Given the description of an element on the screen output the (x, y) to click on. 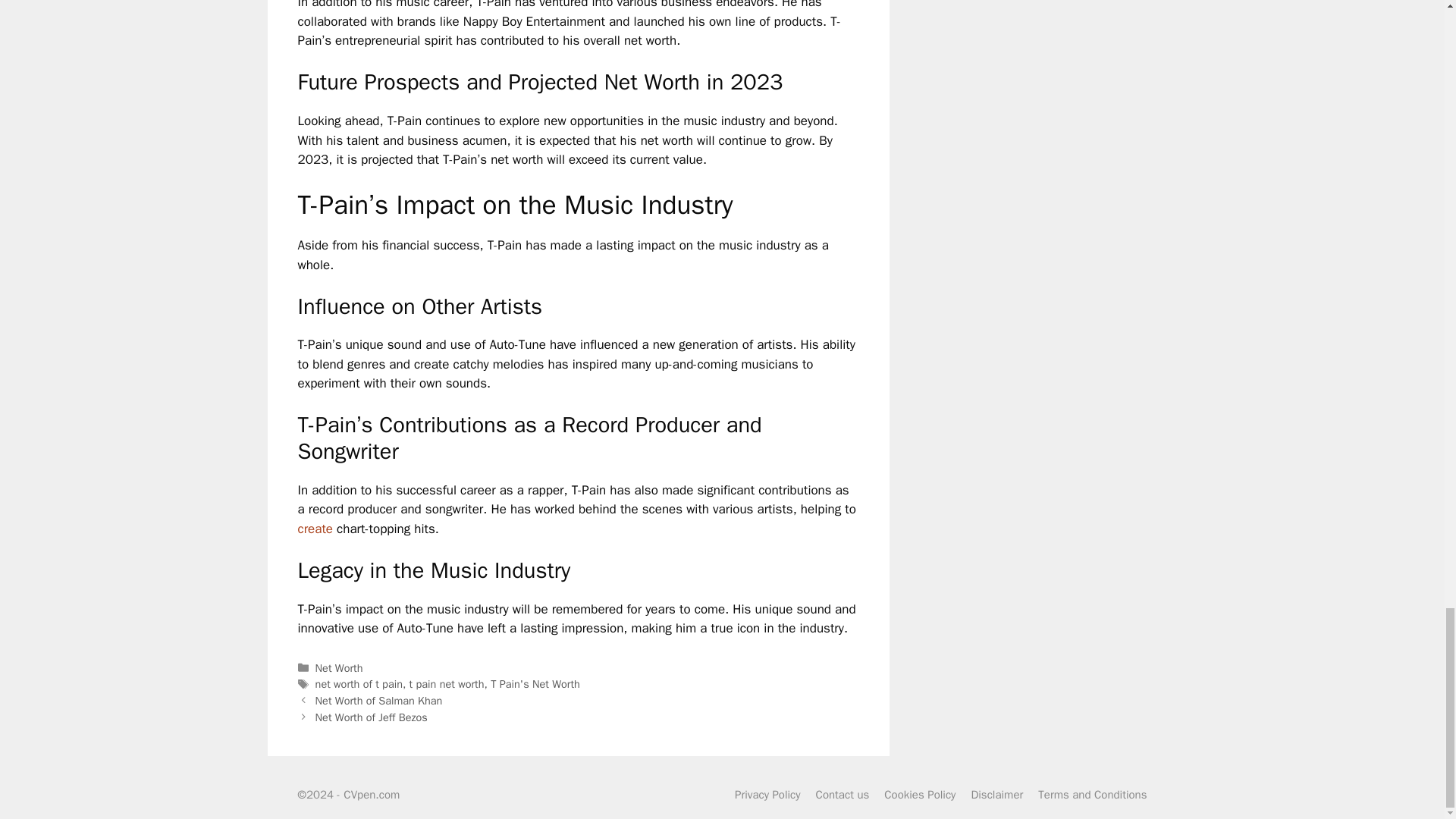
Net Worth (338, 667)
net worth of t pain (359, 684)
Net Worth of Salman Khan (378, 700)
Net Worth of Jeff Bezos (371, 716)
create (315, 528)
T Pain's Net Worth (534, 684)
t pain net worth (446, 684)
